Given the description of an element on the screen output the (x, y) to click on. 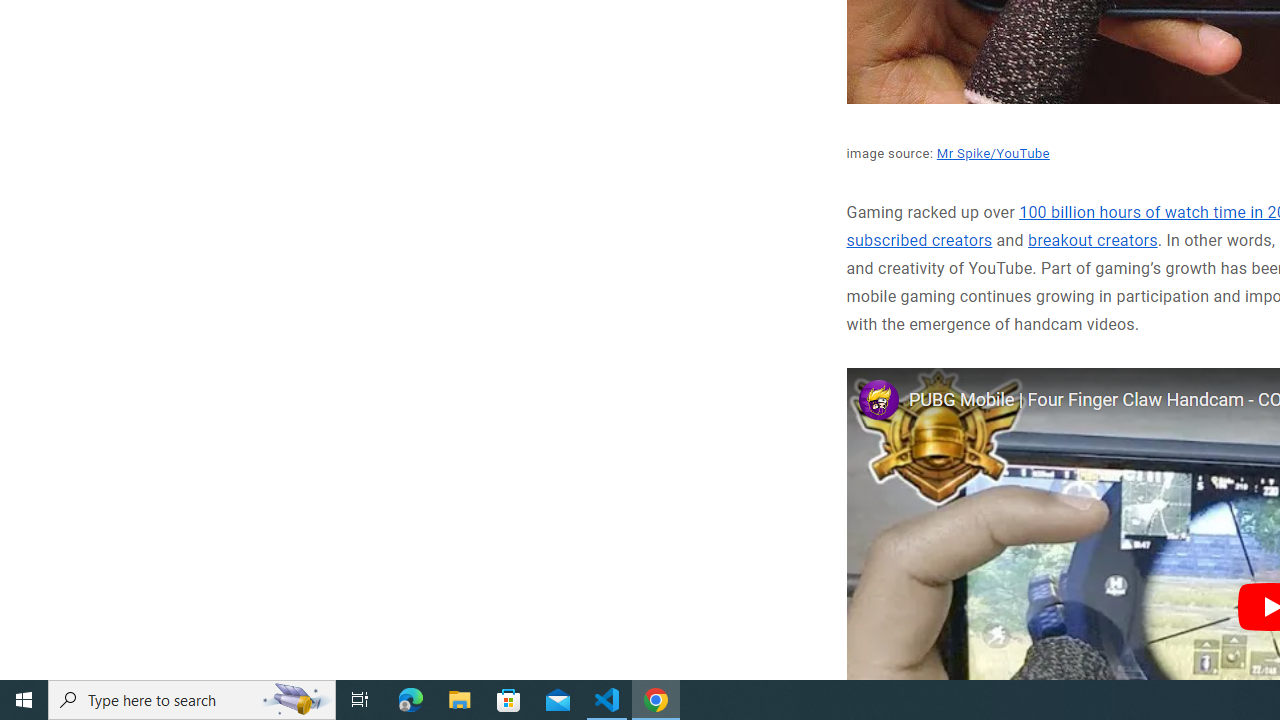
Photo image of Mr Spike (877, 398)
Mr Spike/YouTube (992, 152)
breakout creators (1092, 241)
